Given the description of an element on the screen output the (x, y) to click on. 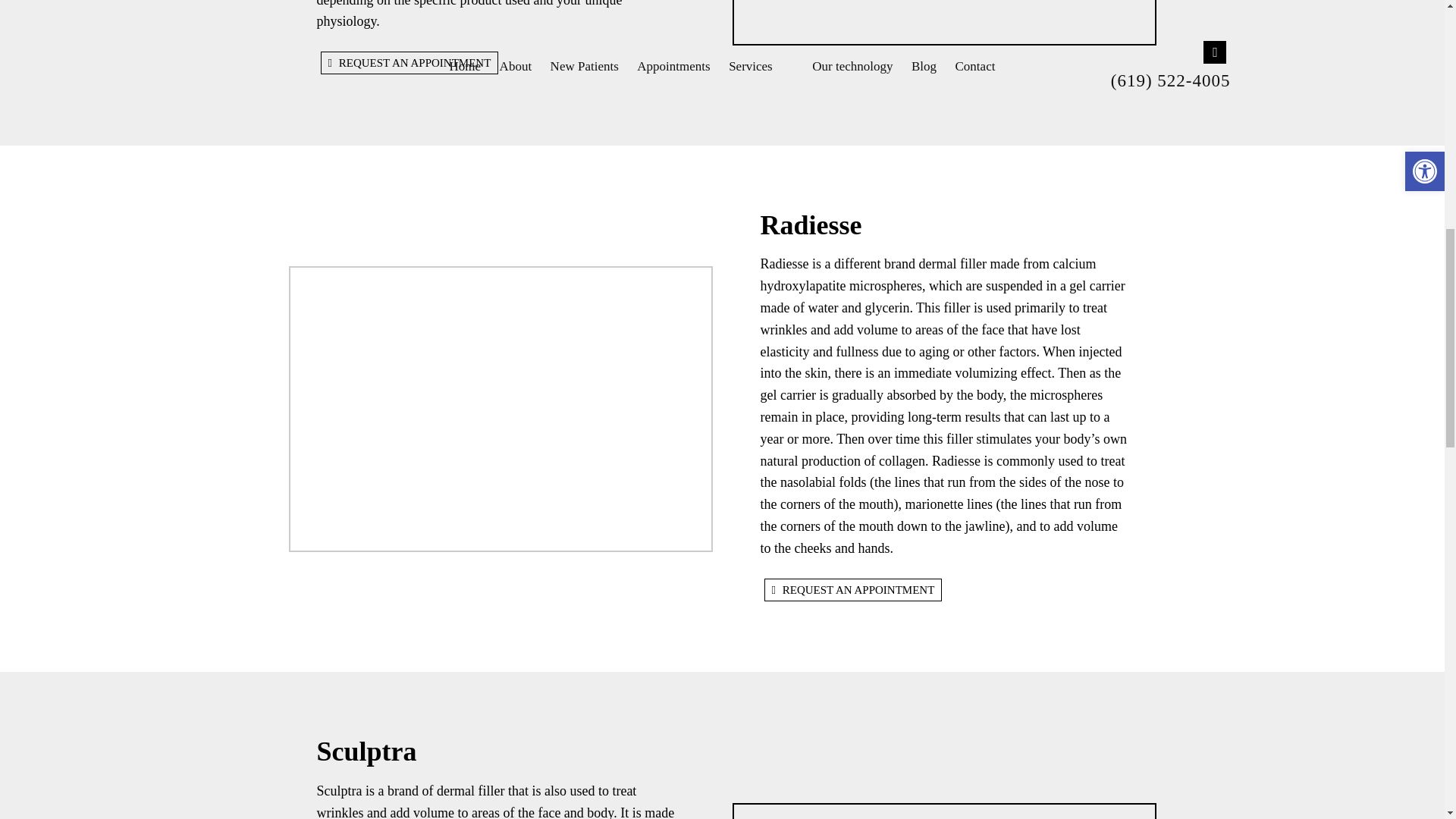
REQUEST AN APPOINTMENT (853, 589)
REQUEST AN APPOINTMENT (408, 62)
